Given the description of an element on the screen output the (x, y) to click on. 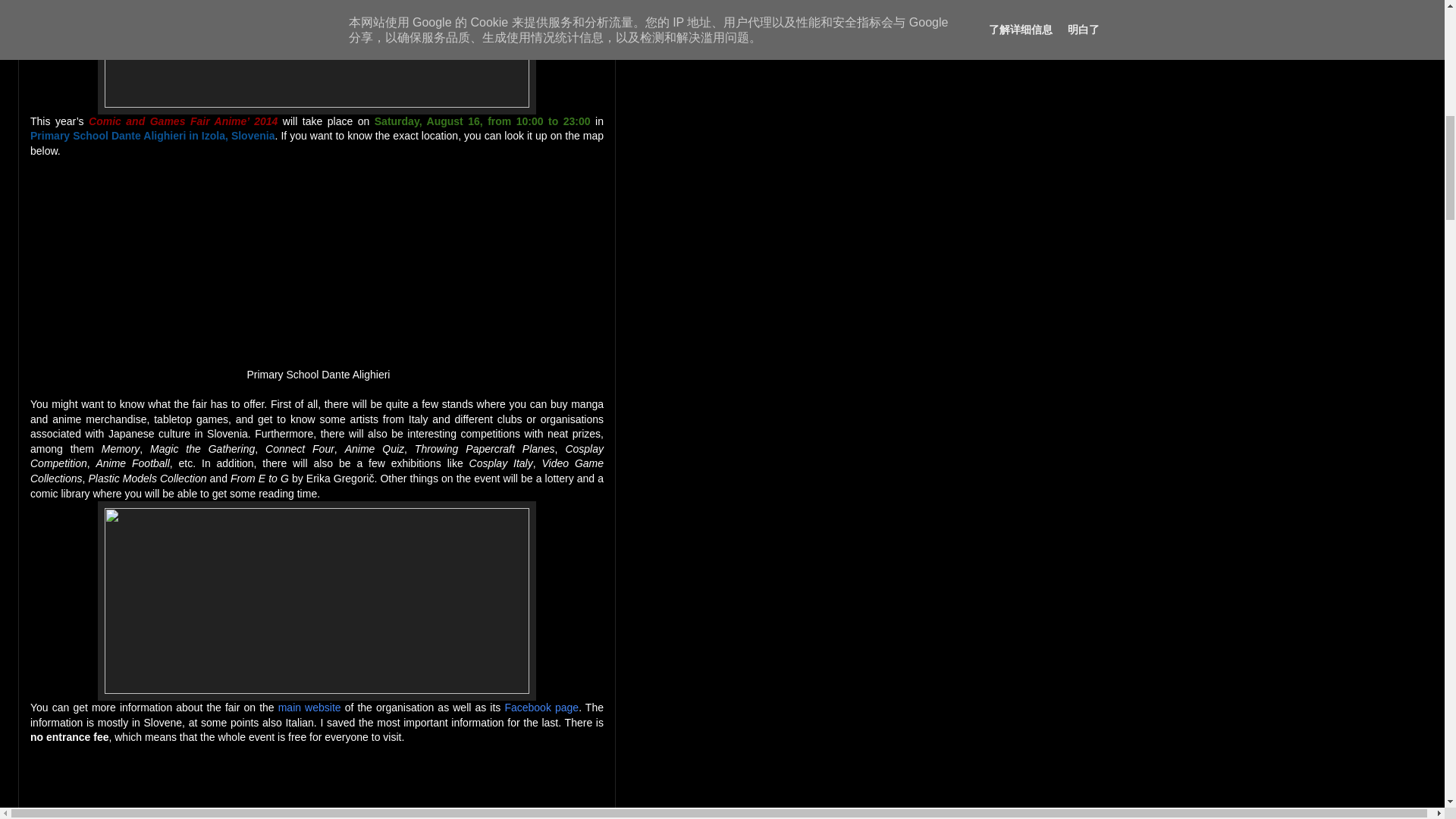
Facebook page (540, 707)
main website (309, 707)
